Given the description of an element on the screen output the (x, y) to click on. 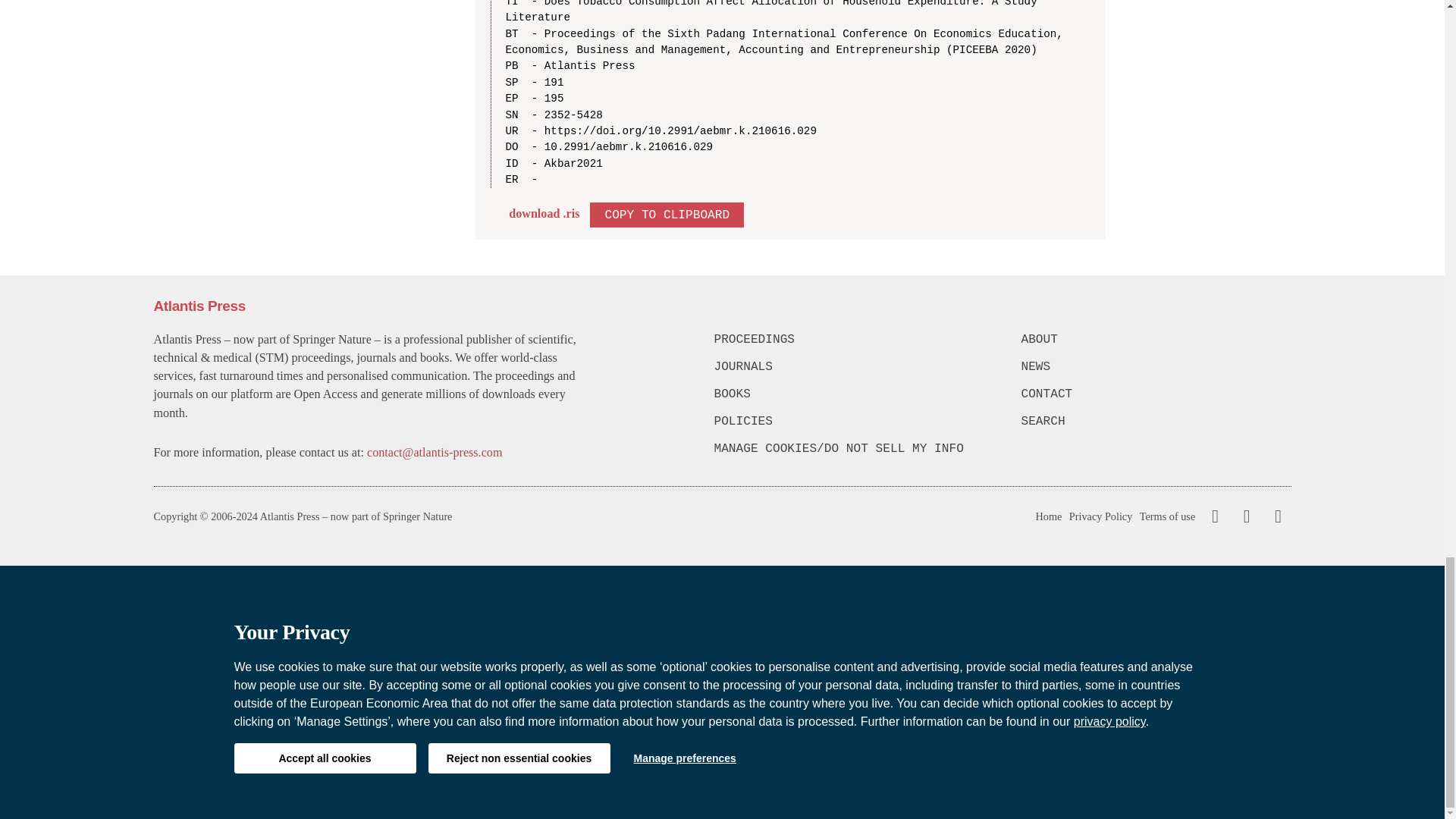
Facebook (1215, 516)
LinkedIn (1275, 516)
Twitter (1243, 516)
